Given the description of an element on the screen output the (x, y) to click on. 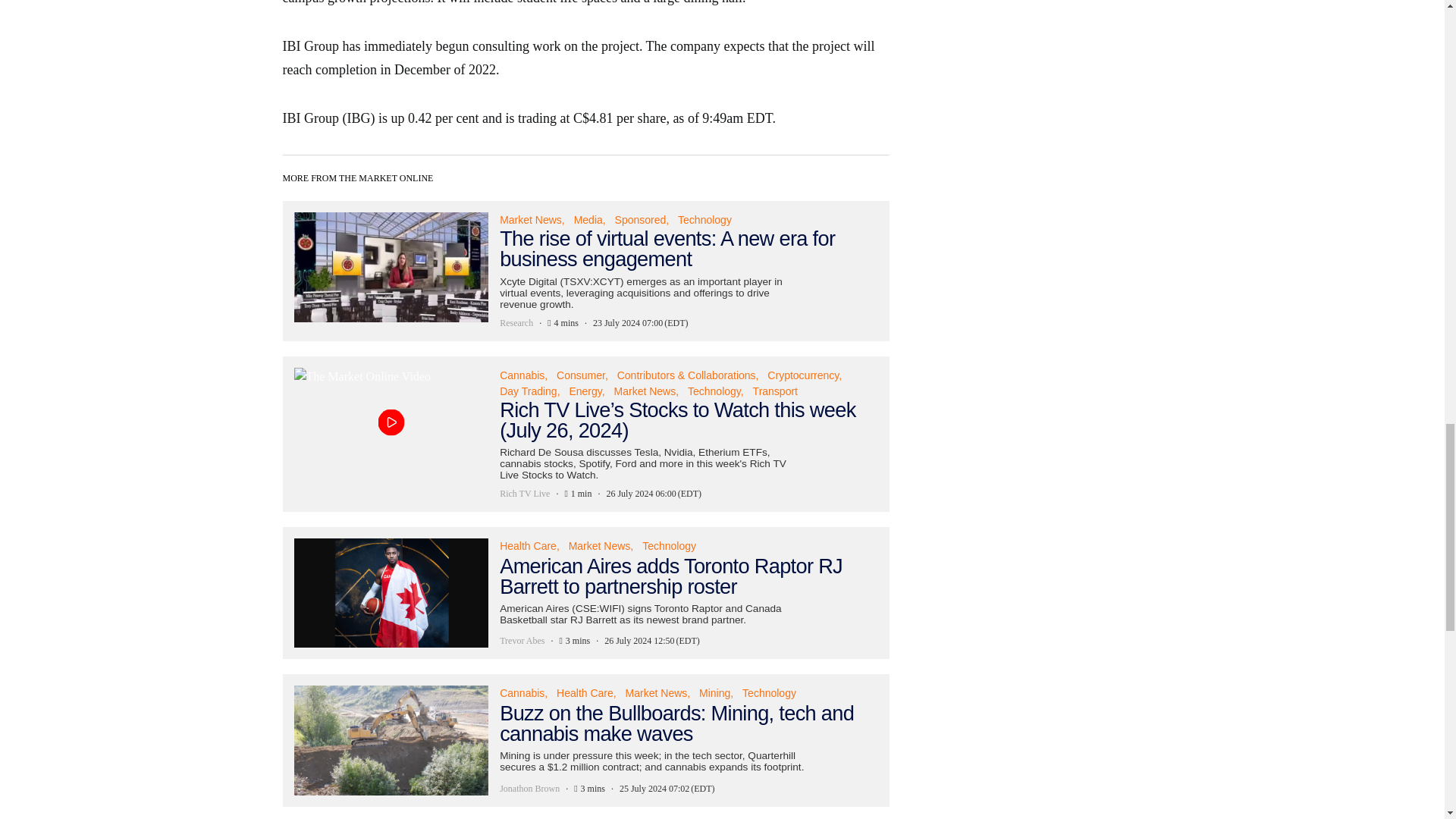
View all posts by Rich TV Live (524, 493)
View all posts by Research (515, 323)
View all posts by Trevor Abes (521, 640)
Buzz on the Bullboards: Mining, tech and cannabis make waves (585, 739)
View all posts by Jonathon Brown (529, 788)
